Given the description of an element on the screen output the (x, y) to click on. 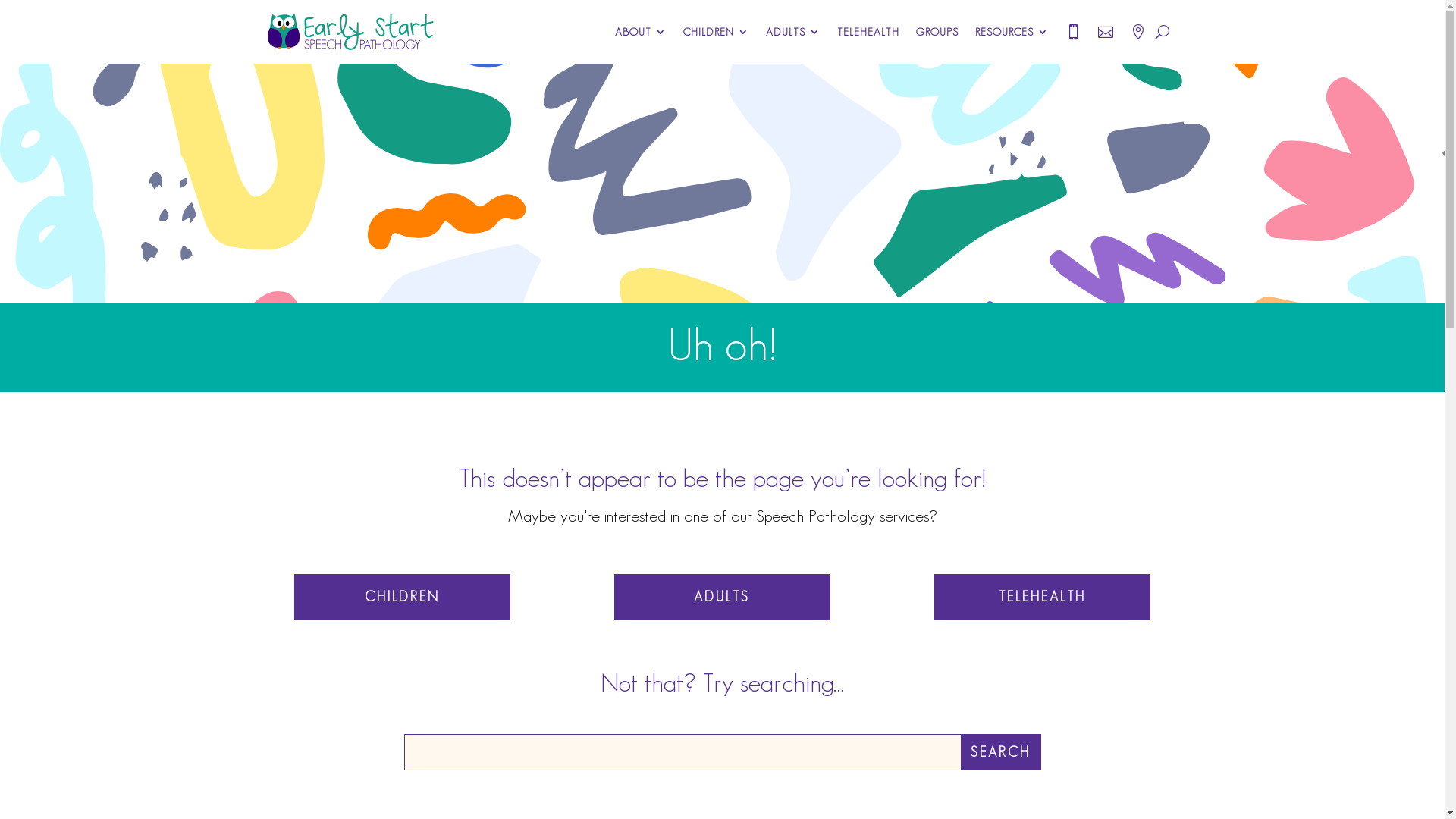
RESOURCES Element type: text (1011, 31)
GROUPS Element type: text (937, 31)
TELEHEALTH Element type: text (868, 31)
ADULTS Element type: text (722, 597)
TELEHEALTH Element type: text (1042, 597)
ABOUT Element type: text (639, 31)
Search Element type: text (1000, 752)
CHILDREN Element type: text (715, 31)
CHILDREN Element type: text (402, 597)
ADULTS Element type: text (792, 31)
